Given the description of an element on the screen output the (x, y) to click on. 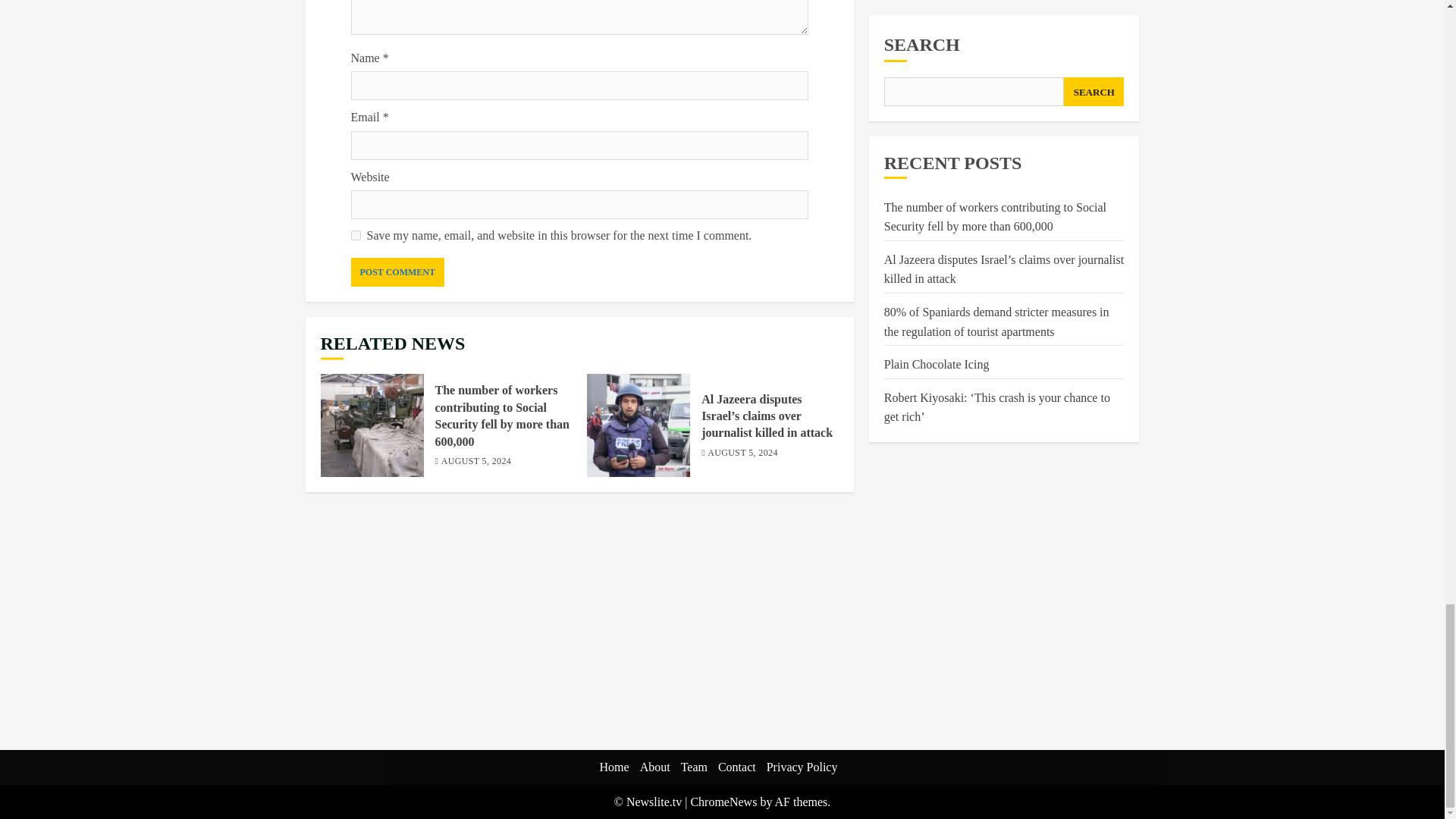
Post Comment (397, 271)
Team (694, 766)
Contact (736, 766)
AUGUST 5, 2024 (742, 453)
Post Comment (397, 271)
AUGUST 5, 2024 (476, 461)
ChromeNews (723, 801)
yes (354, 235)
Privacy Policy (802, 766)
Home (613, 766)
About (654, 766)
